Given the description of an element on the screen output the (x, y) to click on. 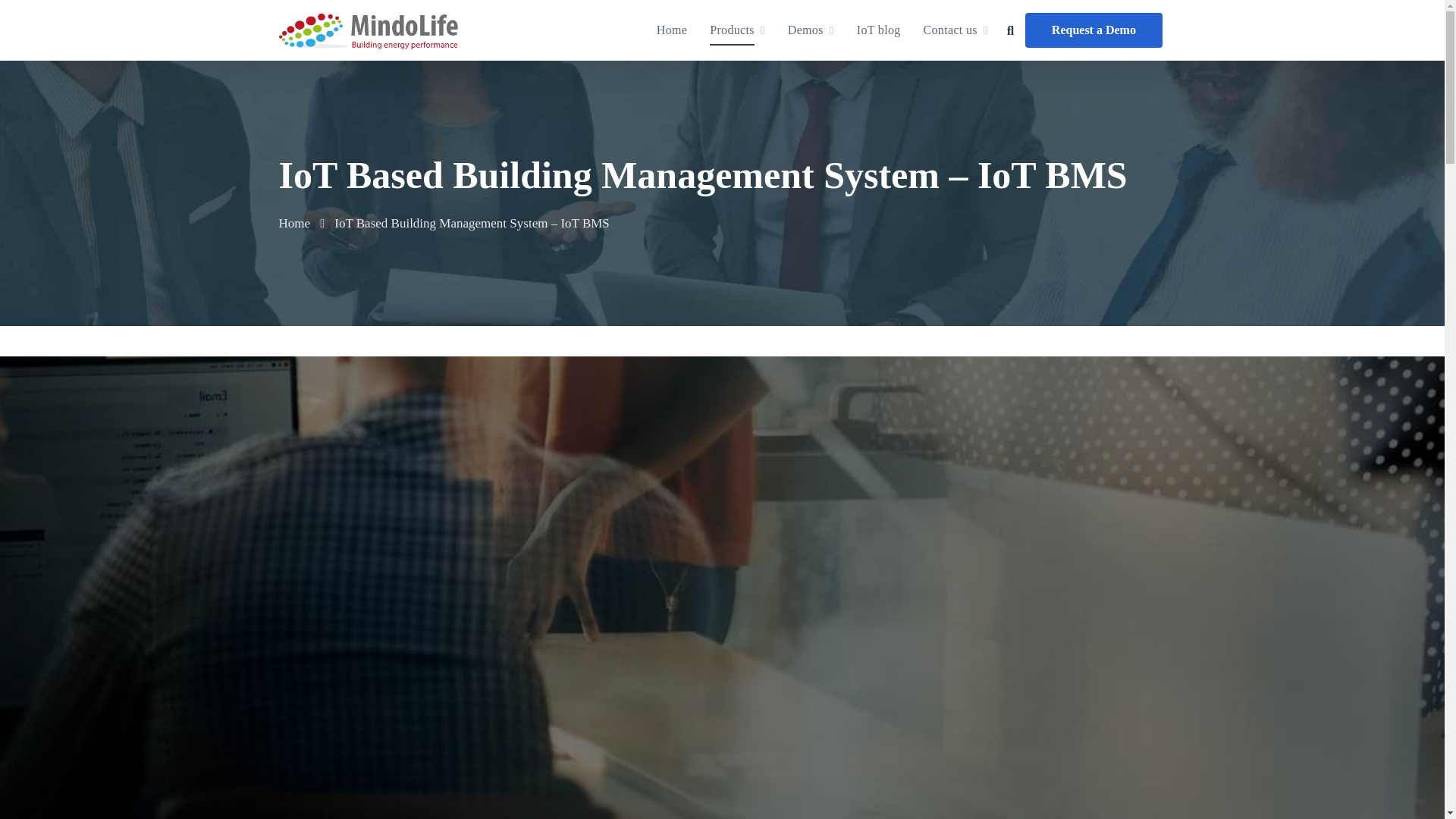
IoT blog (878, 30)
Search (387, 10)
Request a Demo (1093, 30)
Contact us (955, 30)
Demos (810, 30)
Products (737, 30)
